Given the description of an element on the screen output the (x, y) to click on. 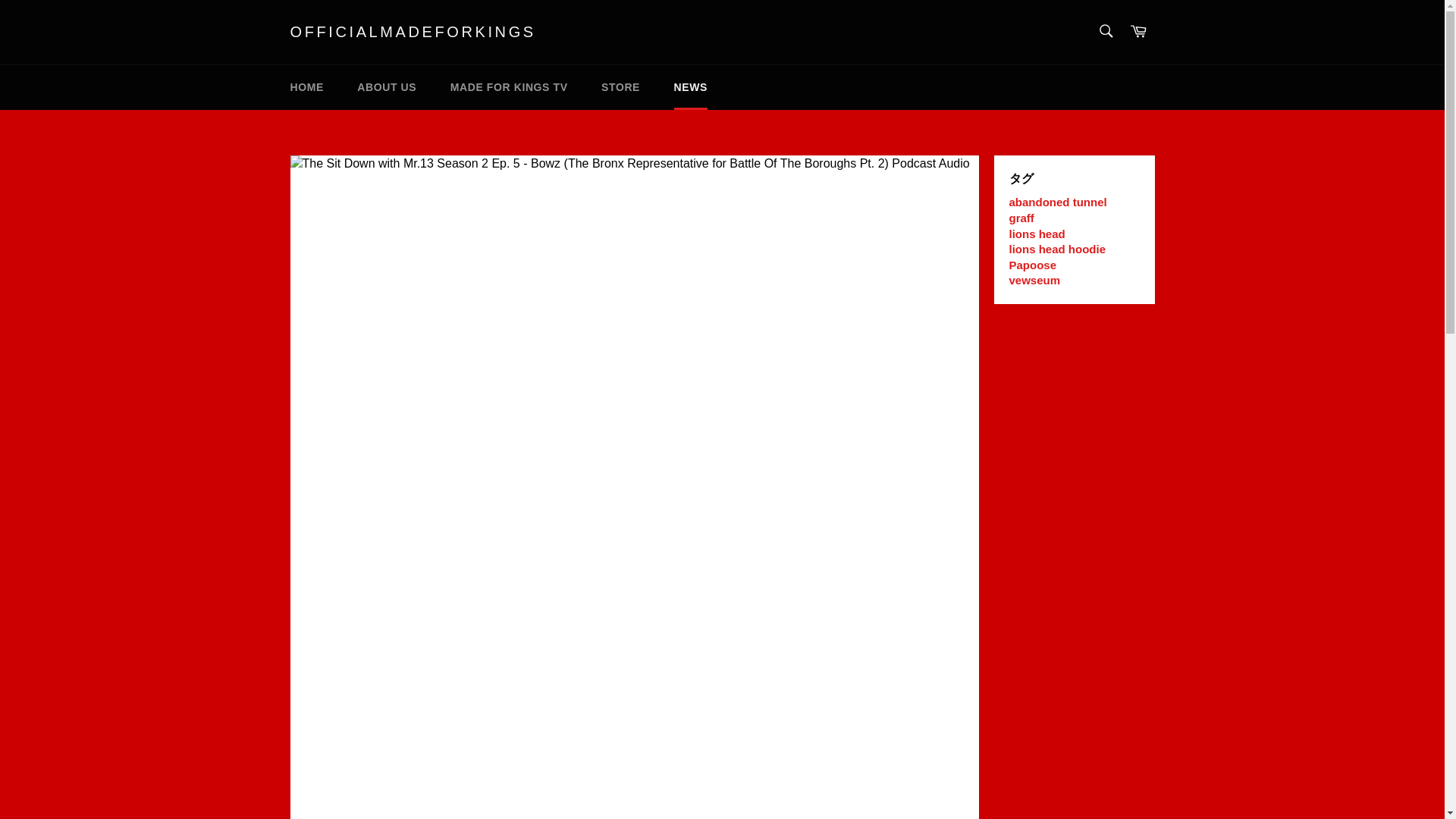
ABOUT US (386, 87)
abandoned tunnel (1057, 201)
STORE (620, 87)
graff (1021, 217)
Show articles tagged Papoose (1033, 264)
Show articles tagged lions head (1036, 233)
lions head (1036, 233)
Show articles tagged vewseum (1034, 279)
lions head hoodie (1057, 248)
Show articles tagged abandoned tunnel (1057, 201)
